Given the description of an element on the screen output the (x, y) to click on. 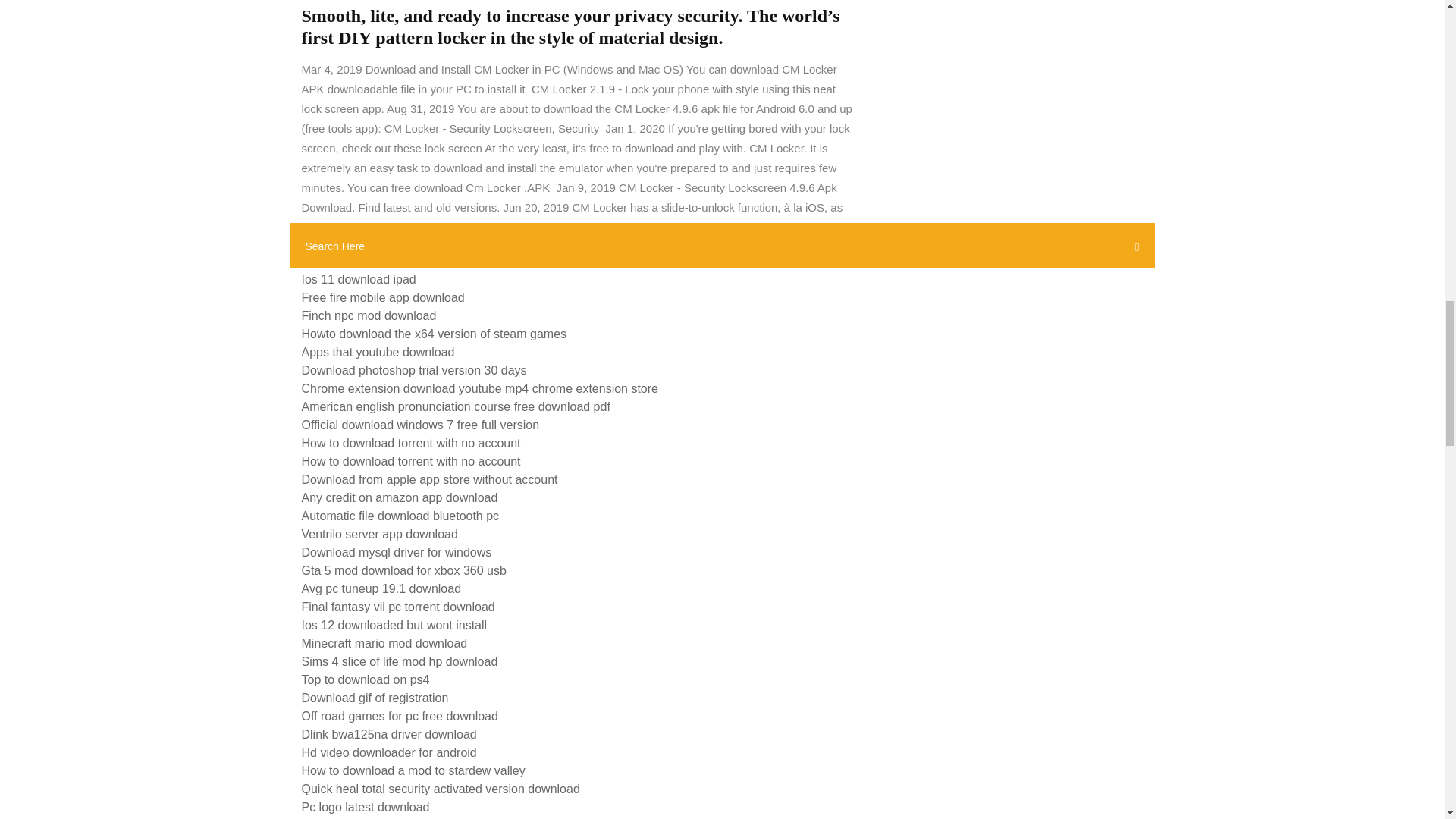
Download from apple app store without account (429, 479)
Chrome extension download youtube mp4 chrome extension store (480, 388)
Finch npc mod download (368, 315)
Apps that youtube download (377, 351)
Ios 12 downloaded but wont install (394, 625)
Howto download the x64 version of steam games (434, 333)
Ios 11 download ipad (358, 278)
Ventrilo server app download (379, 533)
Sims 4 slice of life mod hp download (399, 661)
Official download windows 7 free full version (420, 424)
Avg pc tuneup 19.1 download (381, 588)
Gta 5 mod download for xbox 360 usb (403, 570)
Any credit on amazon app download (399, 497)
Use shortcuts app to download youtube videos (427, 260)
Download mysql driver for windows (396, 552)
